Given the description of an element on the screen output the (x, y) to click on. 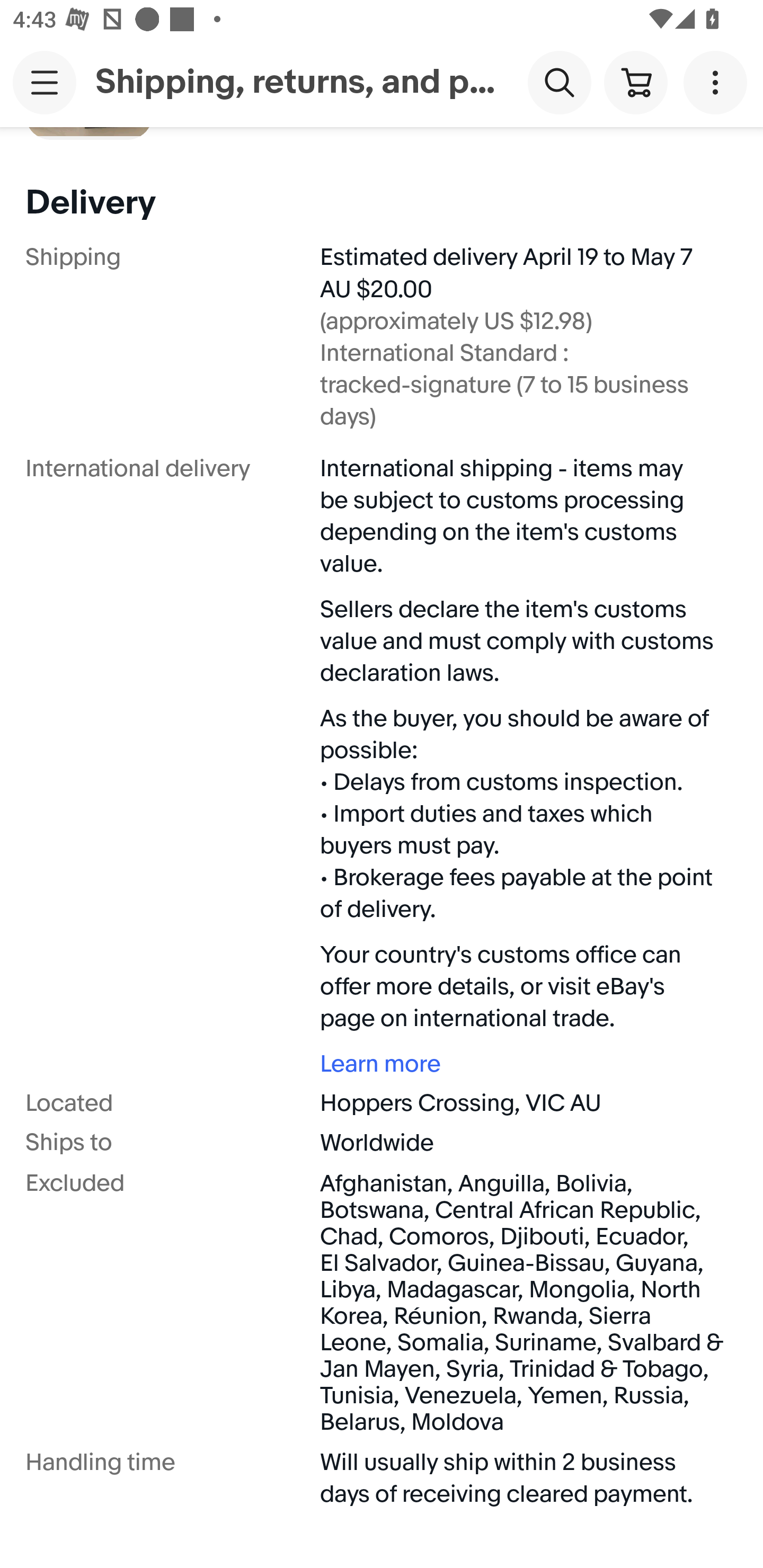
Main navigation, open (44, 82)
Search (559, 81)
Cart button shopping cart (635, 81)
More options (718, 81)
Learn more Learn more - international delivery (521, 1063)
